Given the description of an element on the screen output the (x, y) to click on. 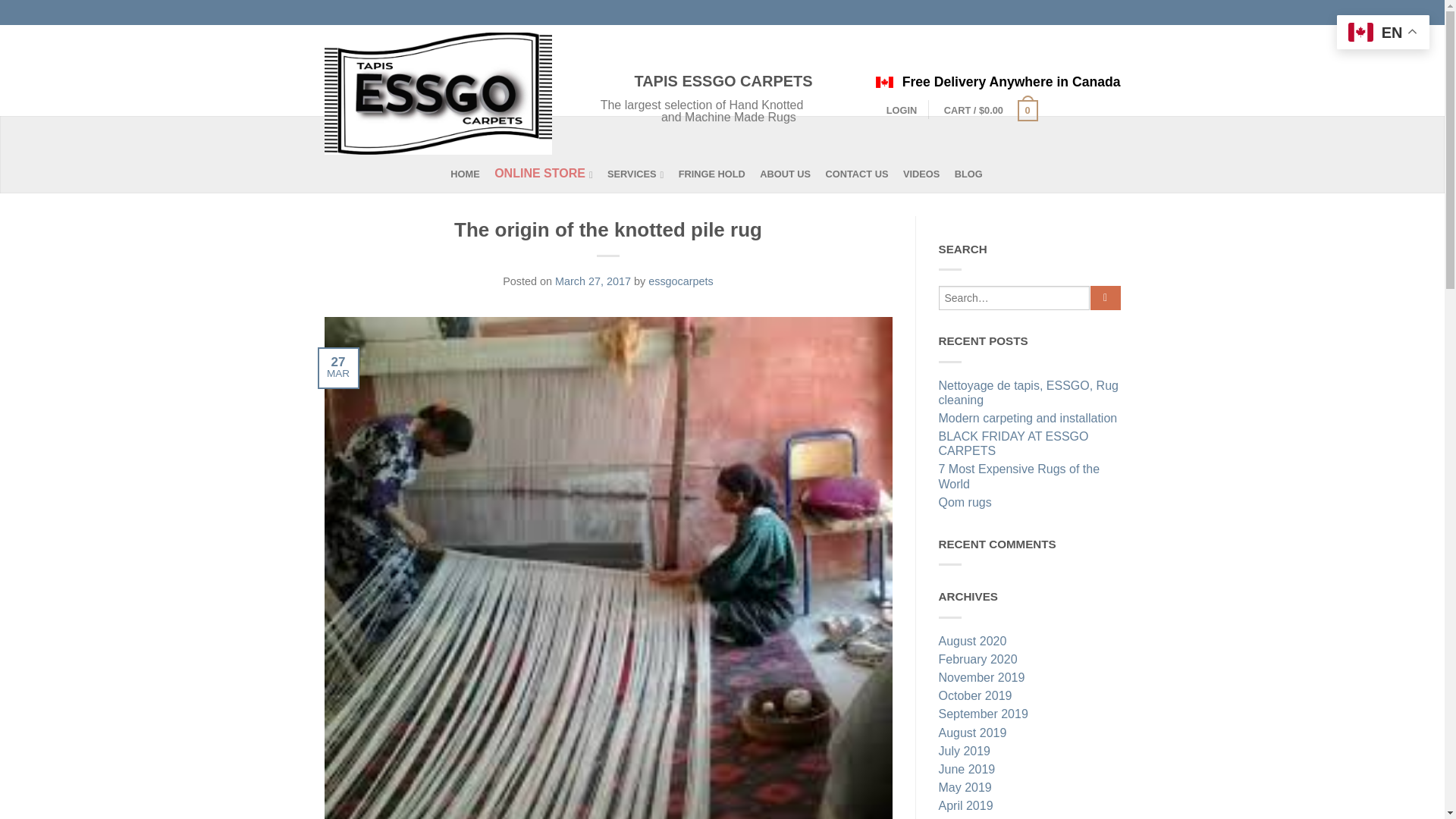
ABOUT US (791, 173)
CONTACT US (862, 173)
LOGIN (901, 110)
SERVICES (641, 173)
ONLINE STORE (549, 173)
essgocarpets (680, 281)
BLOG (974, 173)
FRINGE HOLD (717, 173)
HOME (469, 173)
March 27, 2017 (592, 281)
VIDEOS (926, 173)
